Given the description of an element on the screen output the (x, y) to click on. 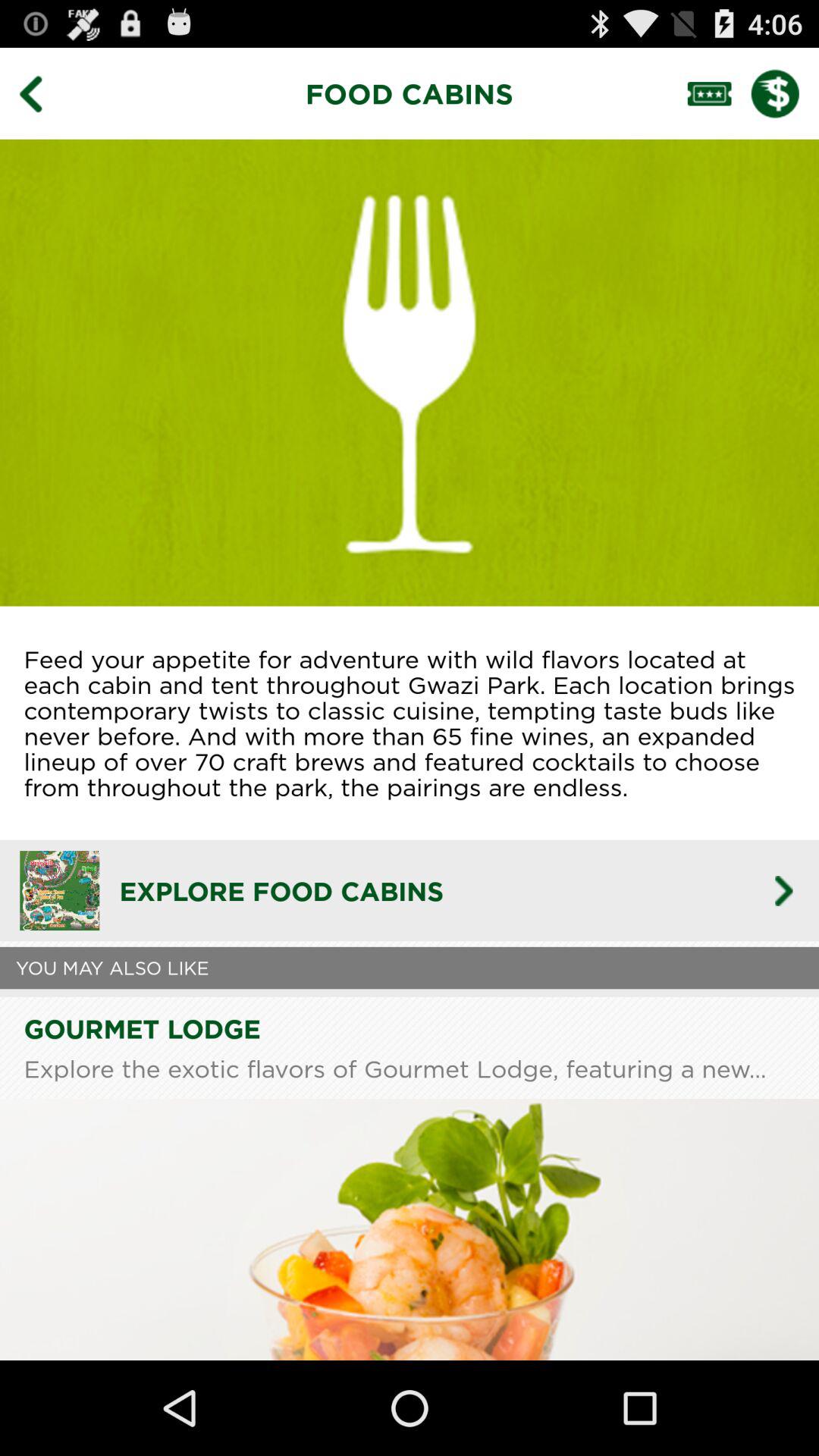
ticket button (719, 93)
